Given the description of an element on the screen output the (x, y) to click on. 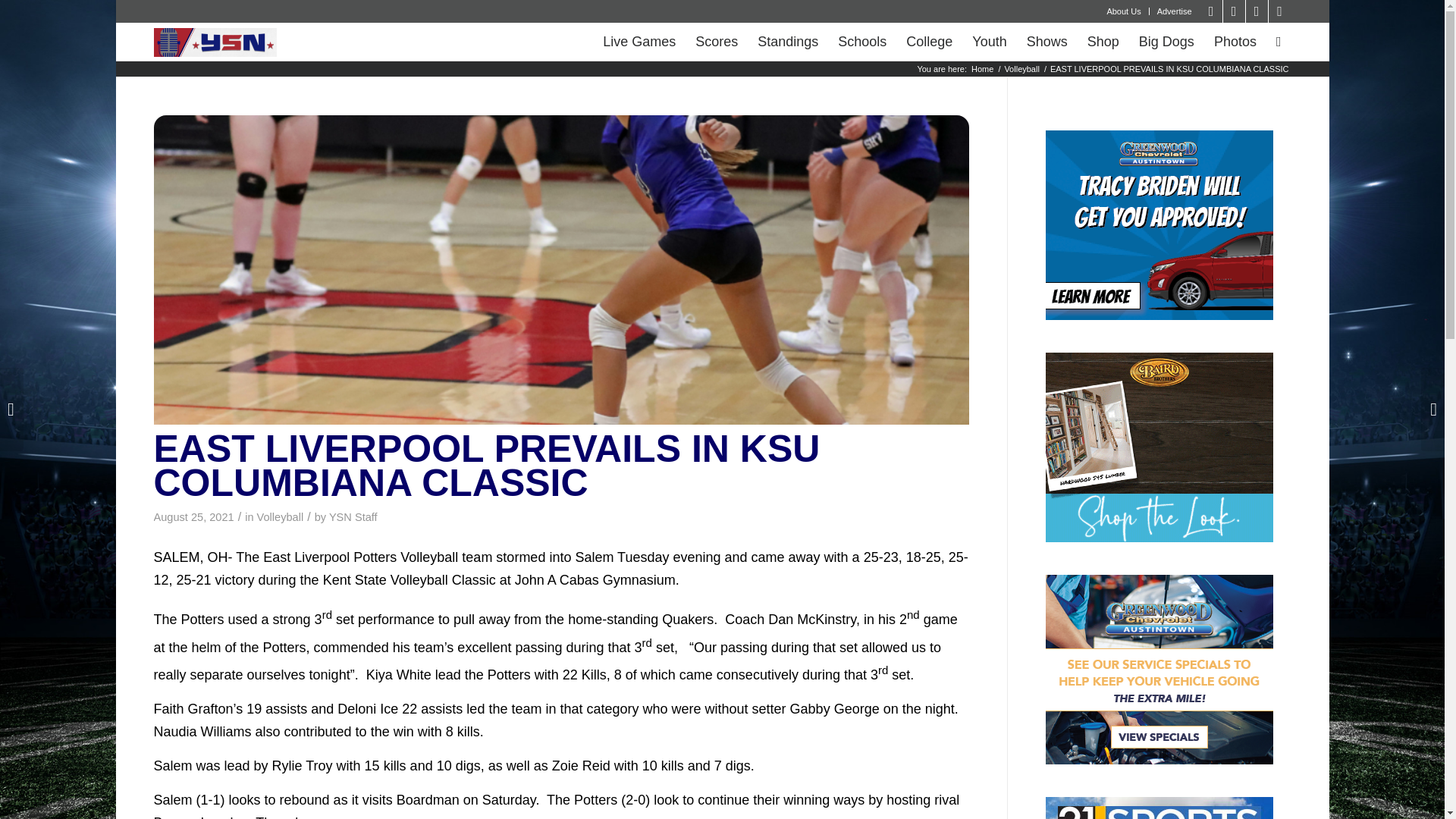
About Us (1123, 11)
Live Games (638, 41)
Standings (788, 41)
Posts by YSN Staff (353, 517)
Scores (716, 41)
Schools (862, 41)
Your Sports Network (982, 69)
Advertise (1174, 11)
